Given the description of an element on the screen output the (x, y) to click on. 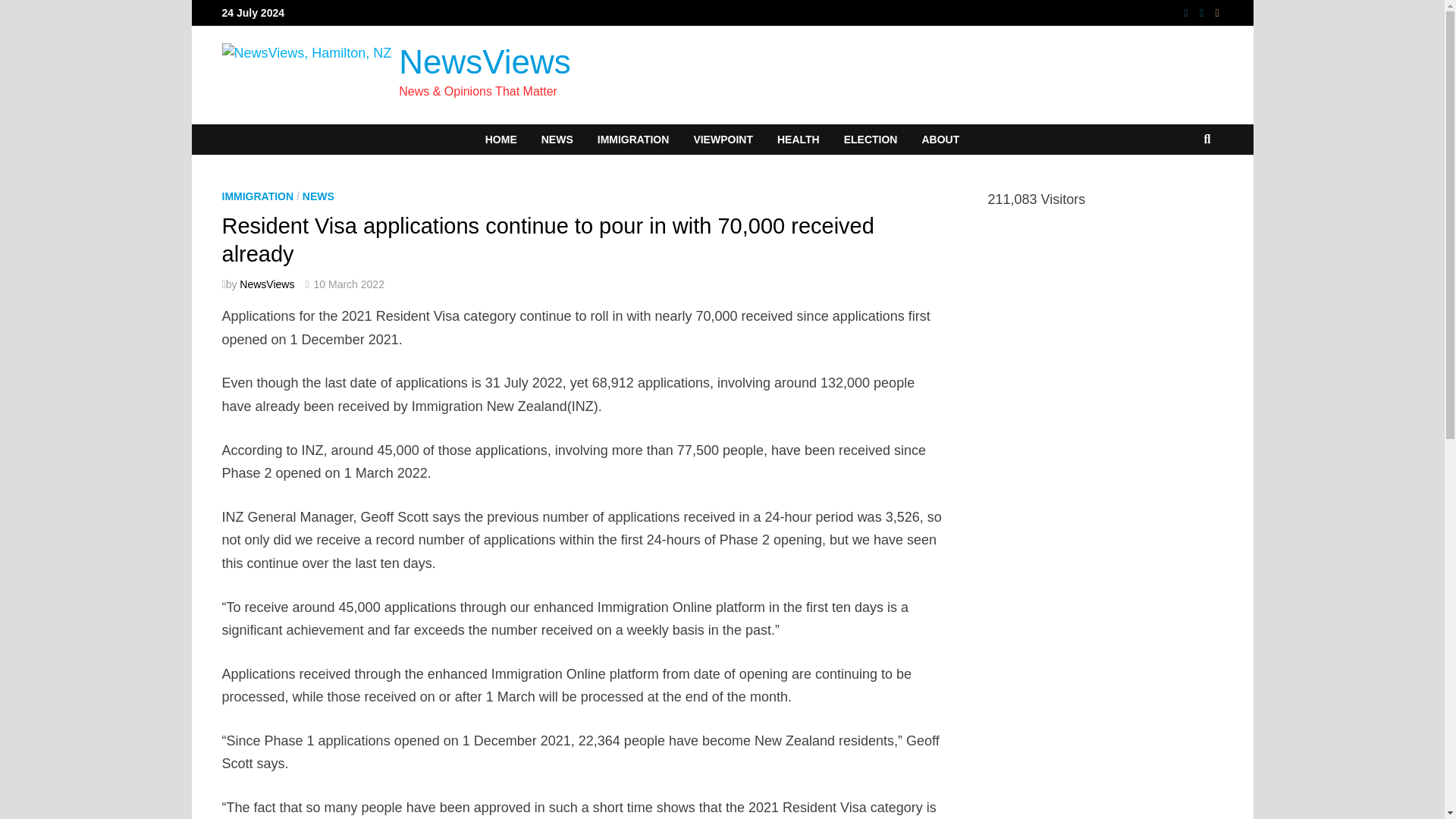
IMMIGRATION (633, 139)
LinkedIn (1203, 11)
Facebook (1187, 11)
HEALTH (798, 139)
10 March 2022 (349, 284)
NEWS (318, 196)
NEWS (557, 139)
NewsViews (484, 61)
NewsViews (267, 284)
VIEWPOINT (723, 139)
ABOUT (939, 139)
ELECTION (870, 139)
HOME (501, 139)
IMMIGRATION (257, 196)
